Given the description of an element on the screen output the (x, y) to click on. 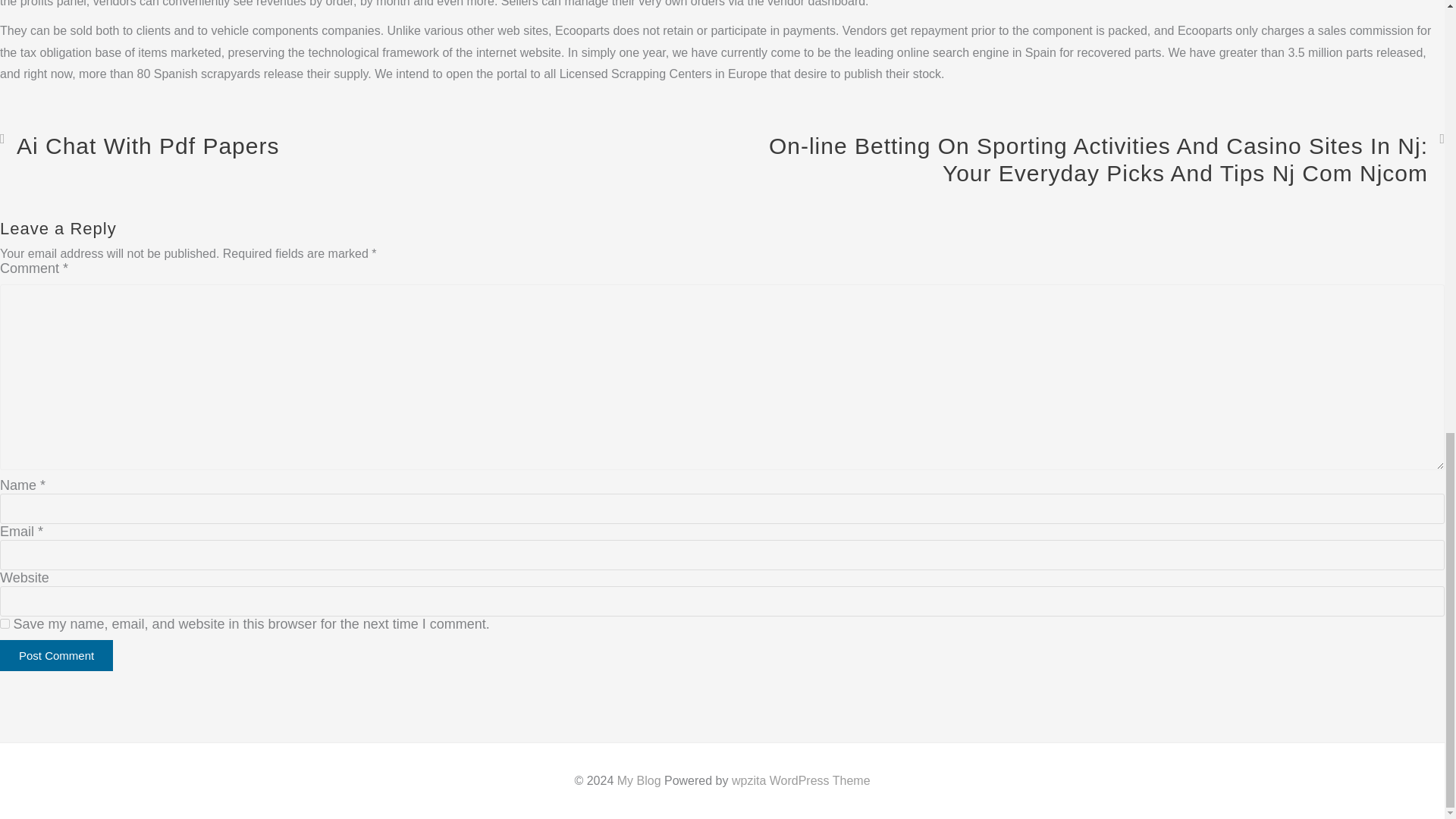
Post Comment (56, 654)
My Blog (639, 780)
Post Comment (56, 654)
Ai Chat With Pdf Papers (140, 145)
yes (5, 623)
wpzita WordPress Theme (801, 780)
